Given the description of an element on the screen output the (x, y) to click on. 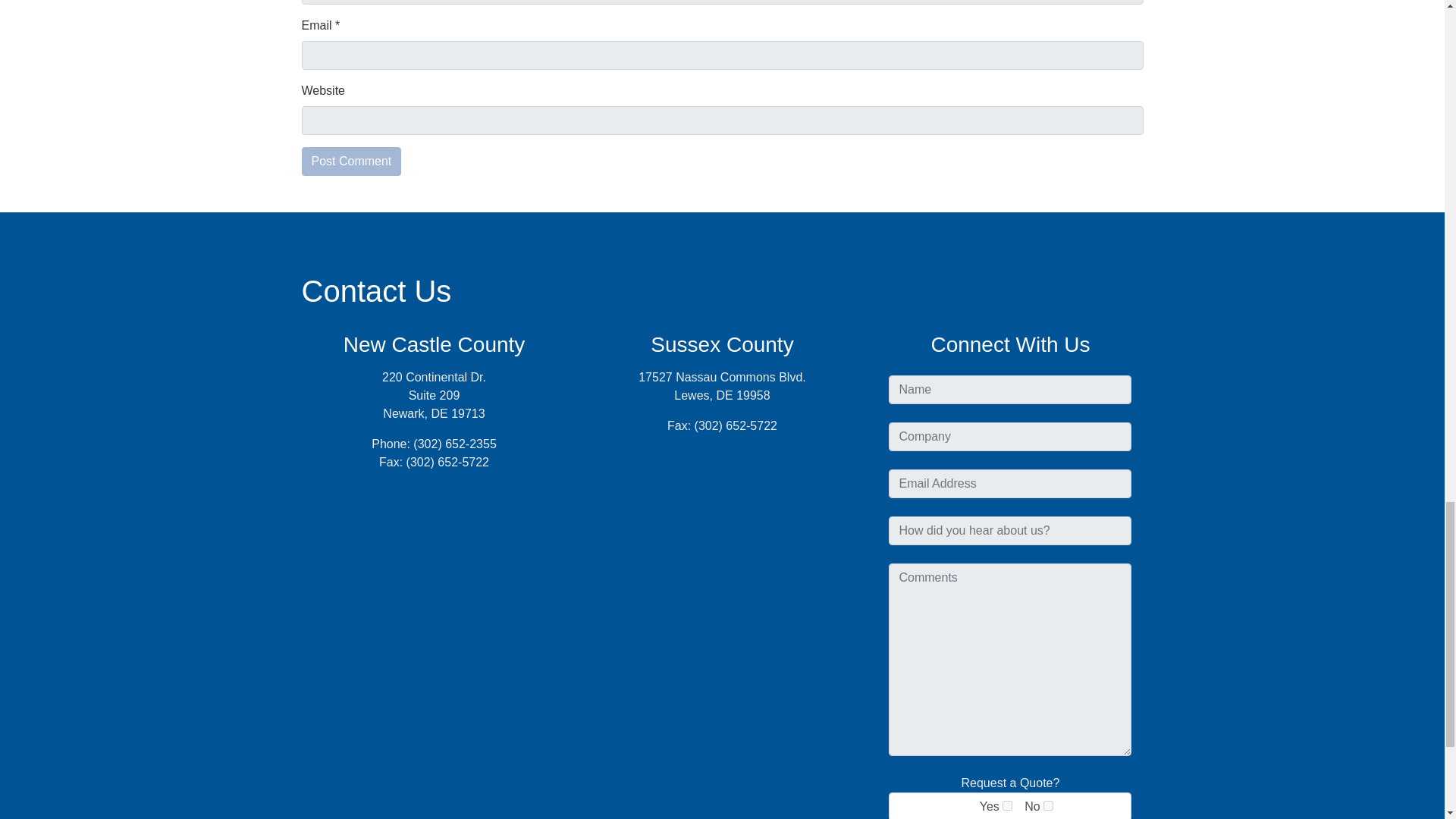
Post Comment (351, 161)
Yes (1007, 805)
No (1047, 805)
Post Comment (351, 161)
